Given the description of an element on the screen output the (x, y) to click on. 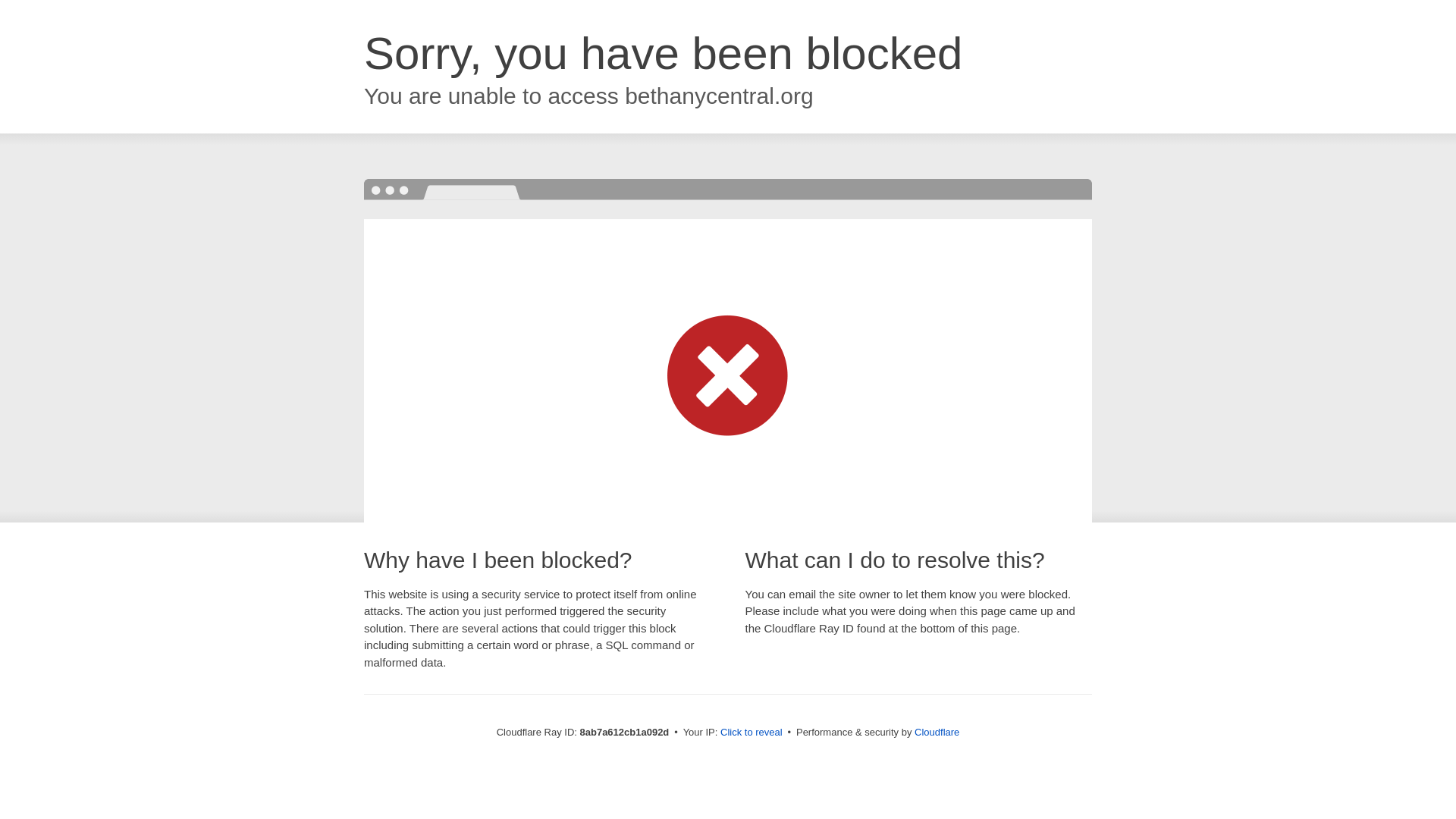
Click to reveal (751, 732)
Cloudflare (936, 731)
